Given the description of an element on the screen output the (x, y) to click on. 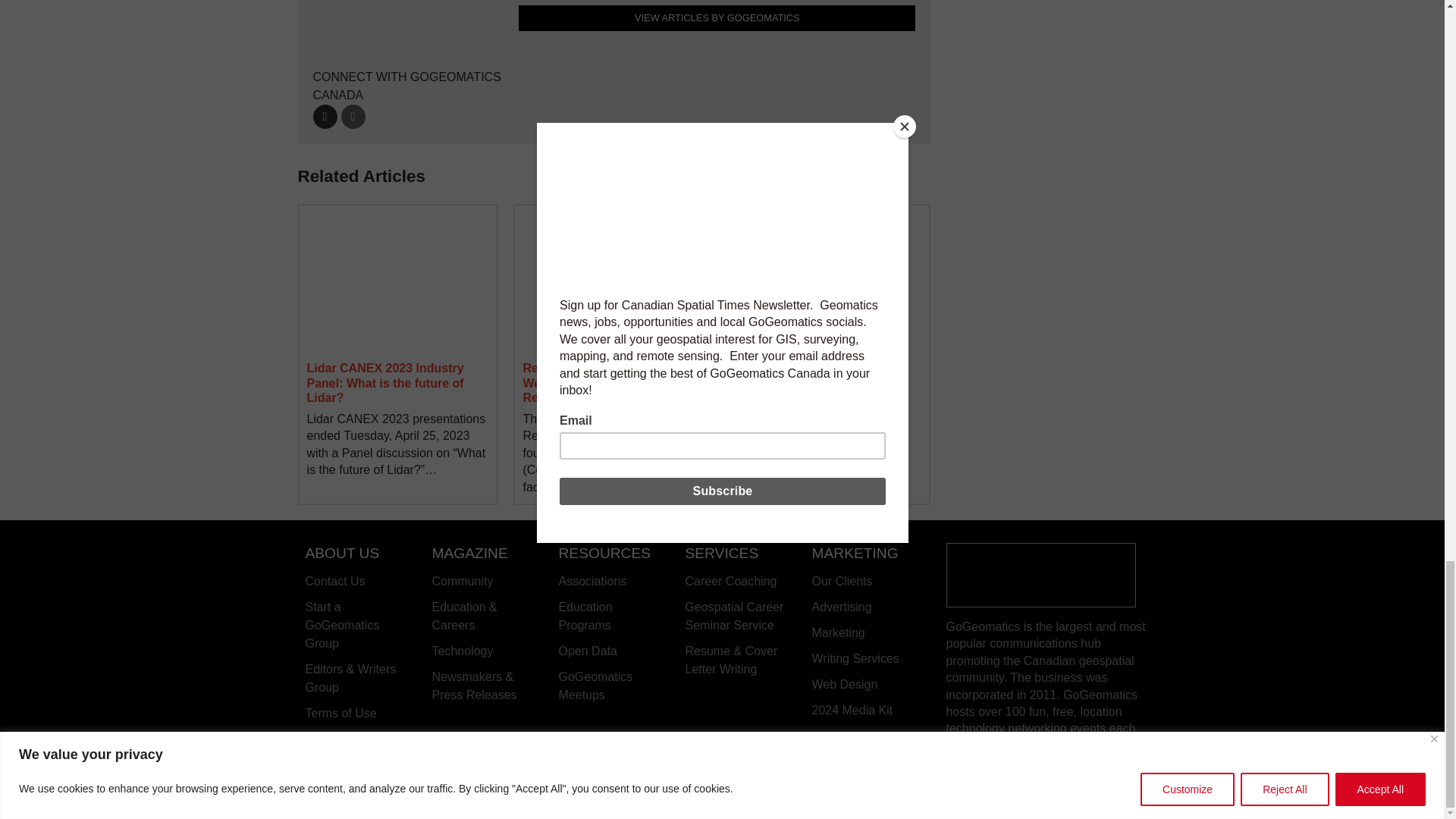
GoGeomatics (1040, 574)
